Given the description of an element on the screen output the (x, y) to click on. 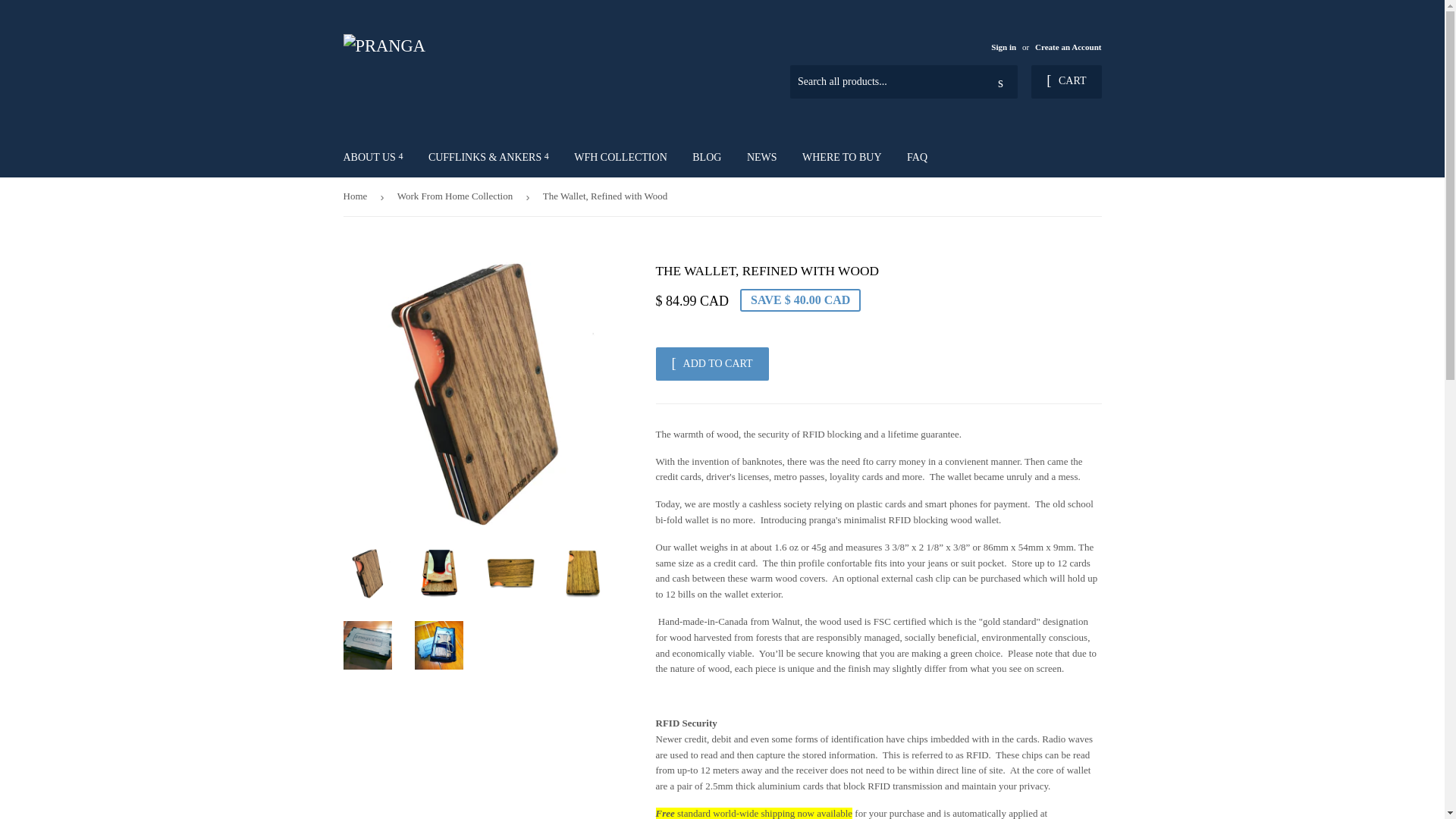
WHERE TO BUY (841, 157)
NEWS (762, 157)
ABOUT US (372, 157)
Sign in (1003, 46)
WFH COLLECTION (620, 157)
Create an Account (1068, 46)
FAQ (917, 157)
BLOG (706, 157)
CART (1065, 81)
Search (1000, 82)
